Given the description of an element on the screen output the (x, y) to click on. 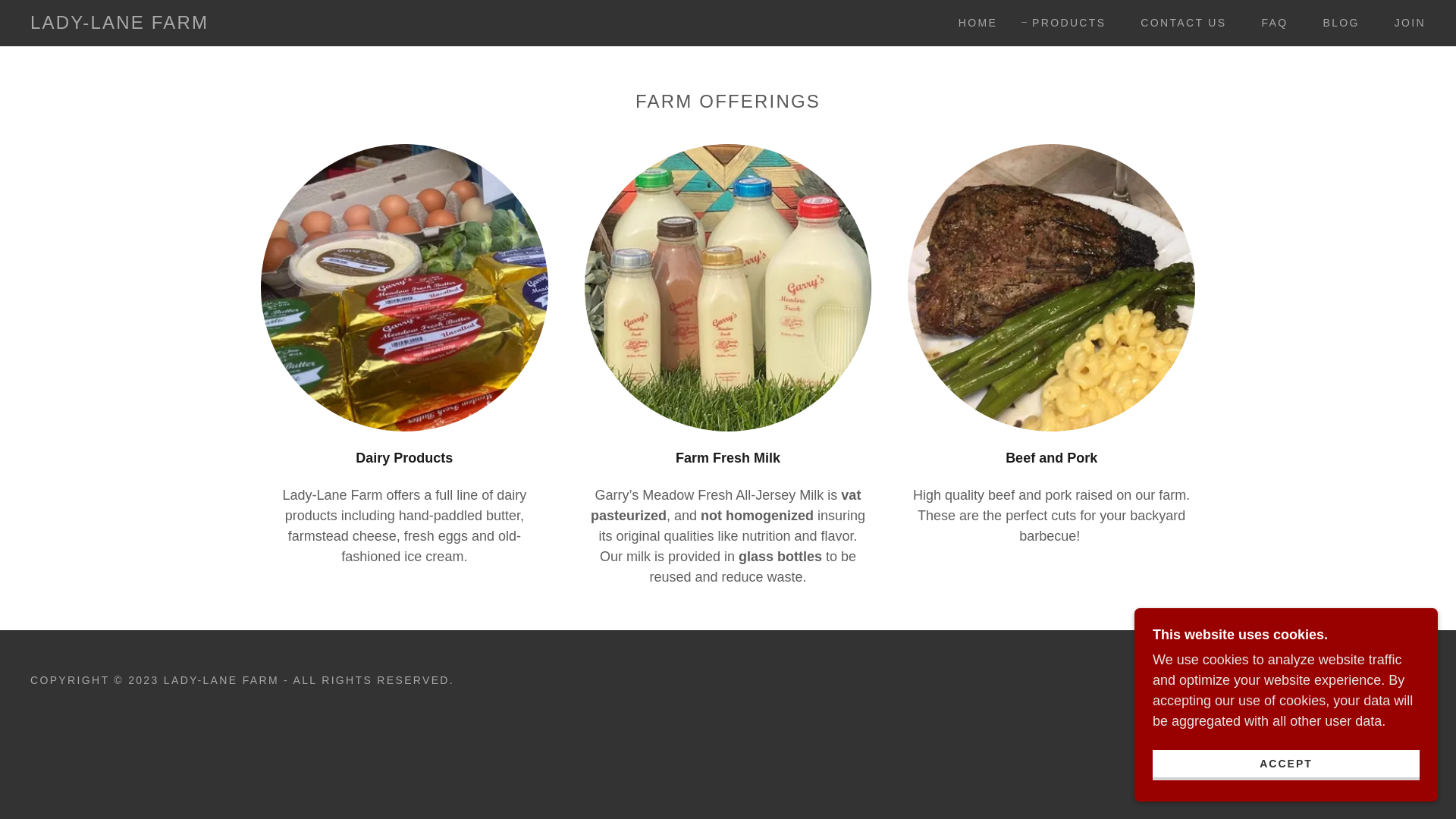
LADY-LANE FARM (119, 23)
PRODUCTS (1063, 22)
GODADDY (1264, 680)
HOME (972, 22)
BLOG (1334, 22)
Lady-Lane Farm (119, 23)
CONTACT US (1177, 22)
JOIN (1403, 22)
ACCEPT (1286, 764)
FAQ (1269, 22)
